Given the description of an element on the screen output the (x, y) to click on. 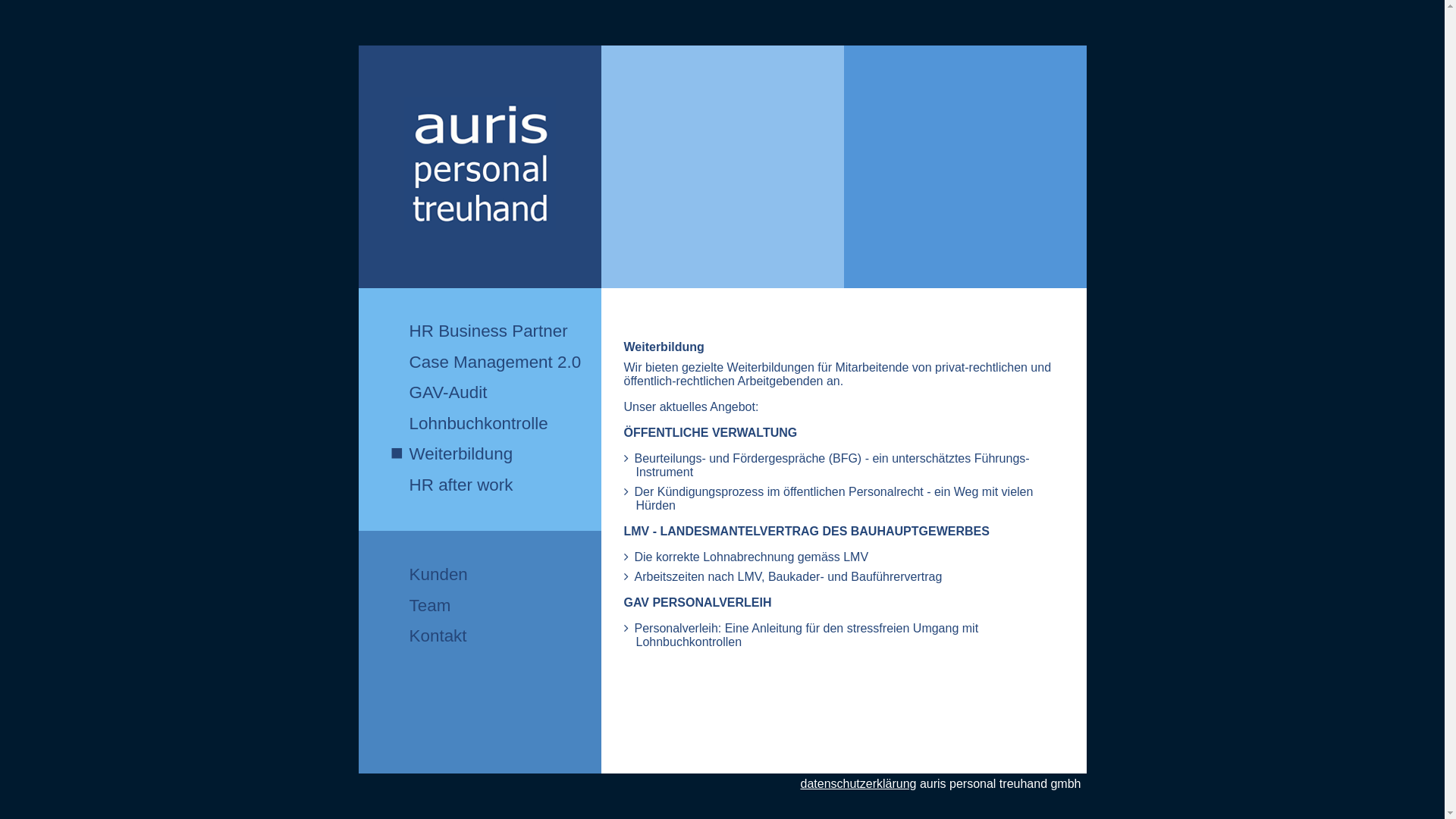
Kontakt Element type: text (428, 634)
Team Element type: text (428, 604)
Case Management 2.0 Element type: text (495, 360)
HR after work Element type: text (495, 483)
GAV-Audit Element type: text (495, 391)
Lohnbuchkontrolle Element type: text (495, 422)
Kunden Element type: text (428, 573)
HR Business Partner Element type: text (495, 329)
